Given the description of an element on the screen output the (x, y) to click on. 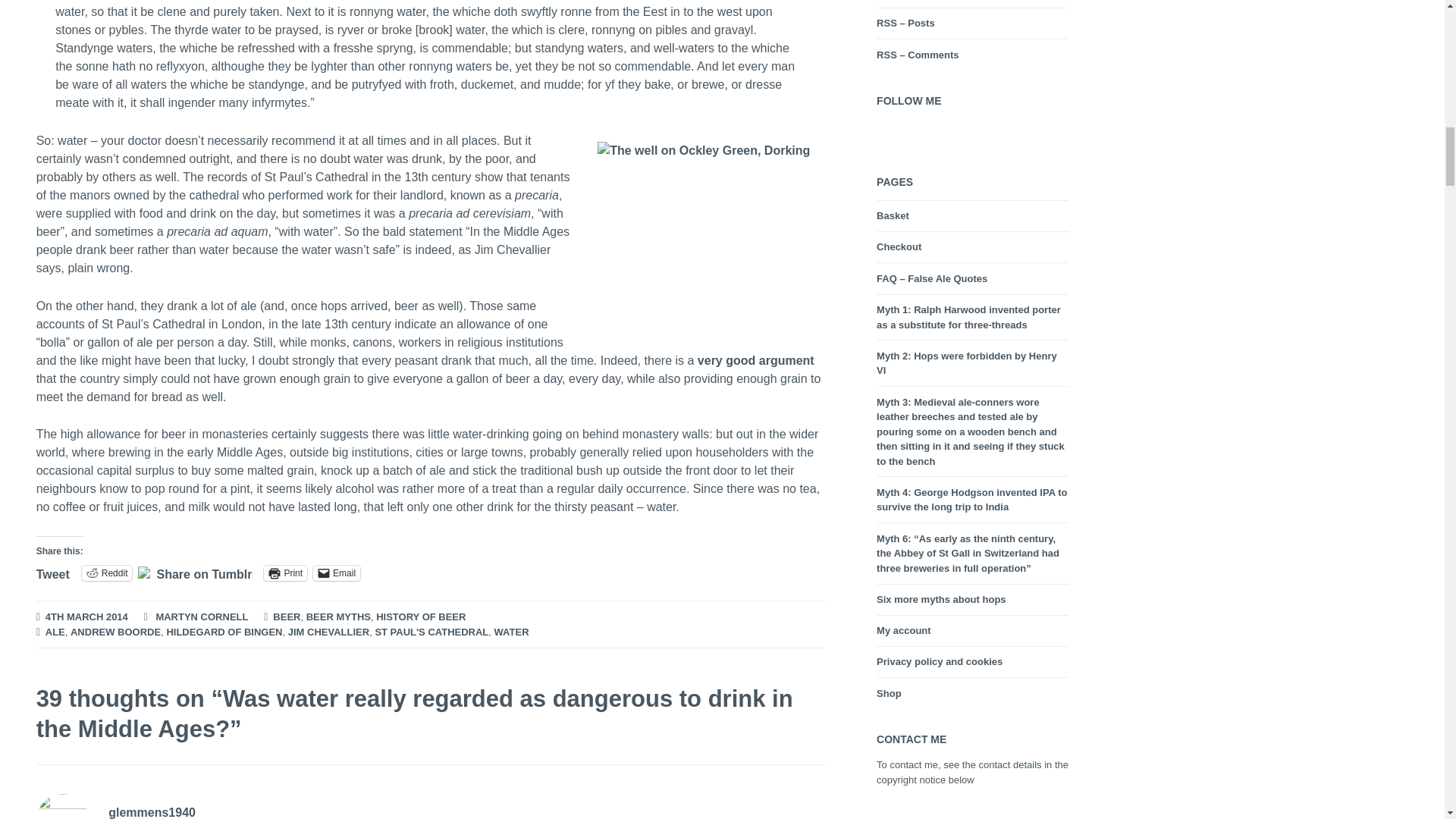
Share on Tumblr (203, 572)
glemmens1940 (151, 812)
Print (285, 572)
Click to share on Reddit (106, 572)
BEER MYTHS (338, 617)
BEER (286, 617)
WATER (512, 632)
Share on Tumblr (203, 572)
ANDREW BOORDE (114, 632)
Subscribe to comments (917, 55)
